Given the description of an element on the screen output the (x, y) to click on. 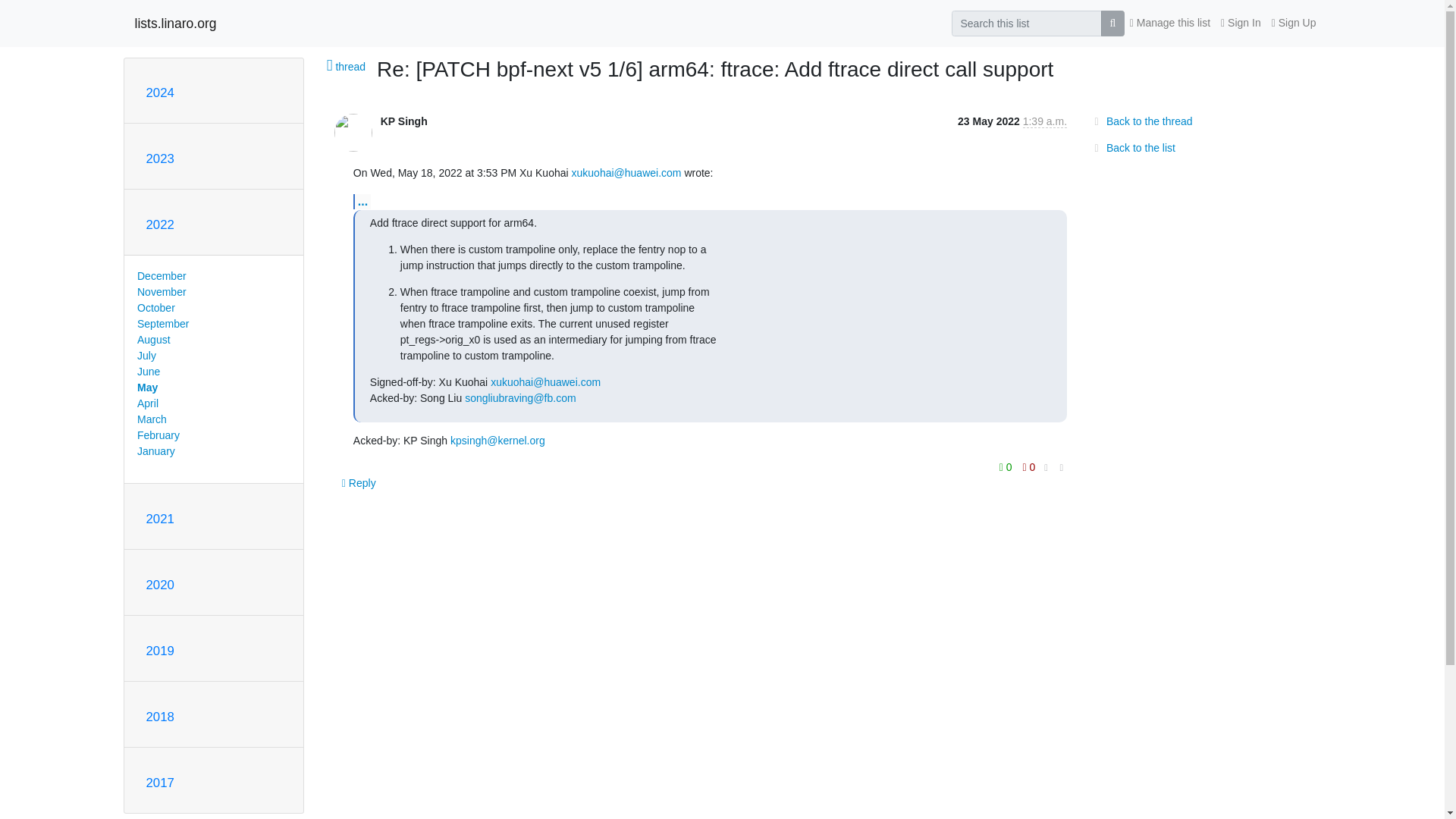
You must be logged-in to vote. (1029, 466)
Manage this list (1169, 22)
Sign In (1240, 22)
July (145, 355)
lists.linaro.org (175, 22)
August (153, 339)
September (162, 323)
November (161, 291)
December (161, 275)
Sender's time: May 23, 2022, 3:39 a.m. (1045, 121)
Sign Up (1294, 22)
October (155, 307)
June (148, 371)
2023 (159, 158)
You must be logged-in to vote. (1007, 466)
